Given the description of an element on the screen output the (x, y) to click on. 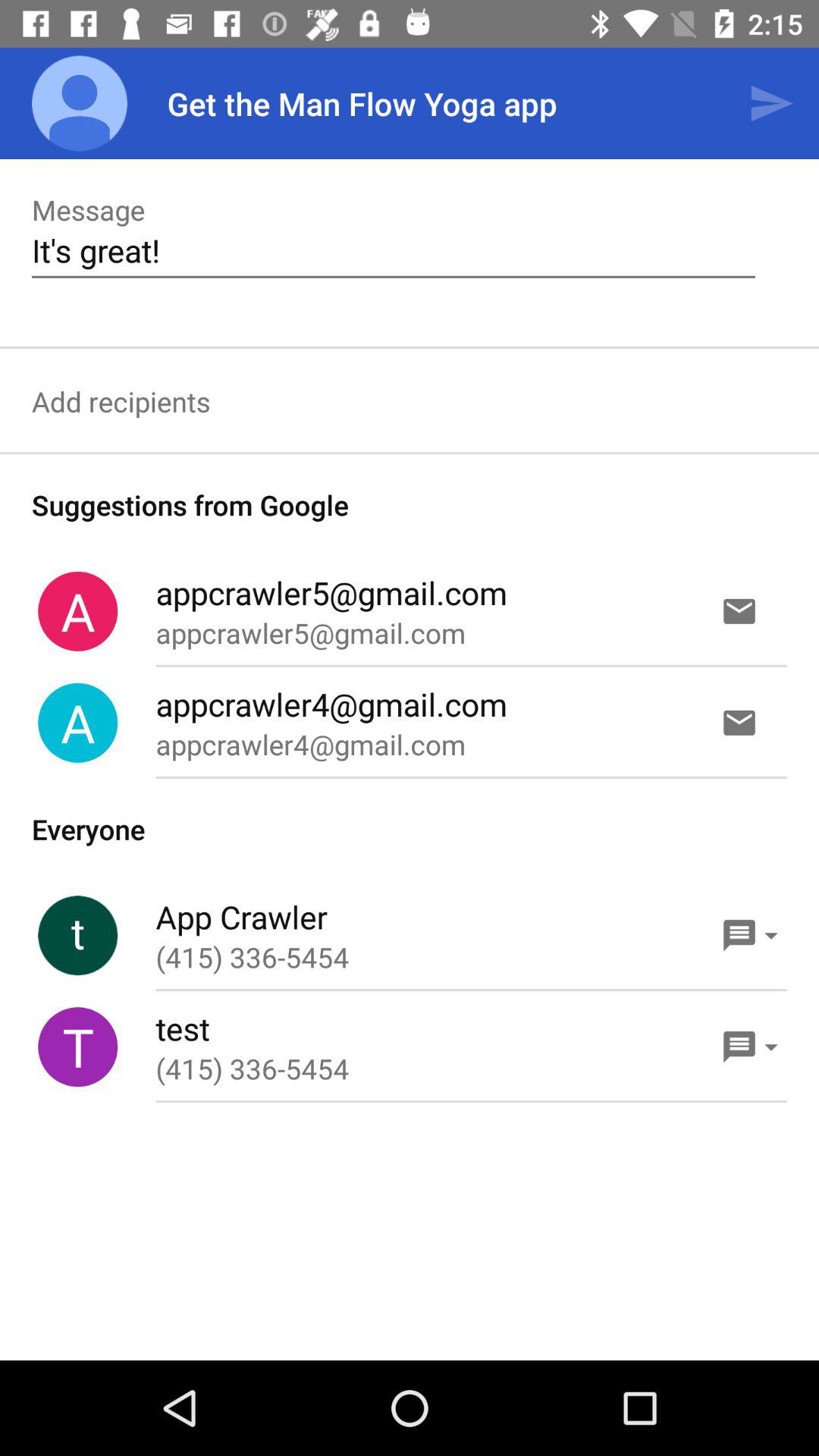
press the app to the left of the get the man app (79, 103)
